Given the description of an element on the screen output the (x, y) to click on. 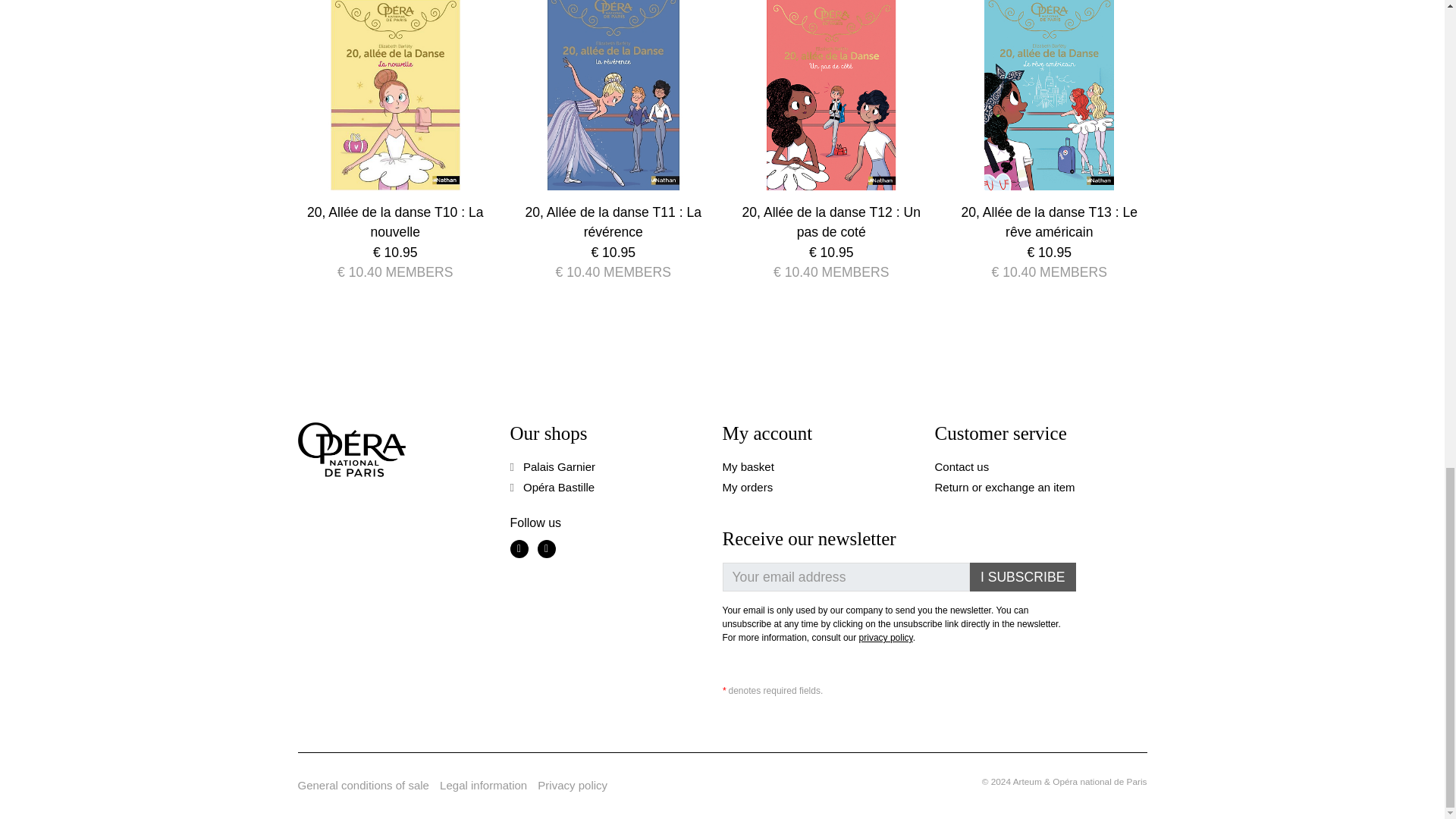
I subscribe (1022, 576)
Instagram (546, 547)
Facebook (518, 547)
